Given the description of an element on the screen output the (x, y) to click on. 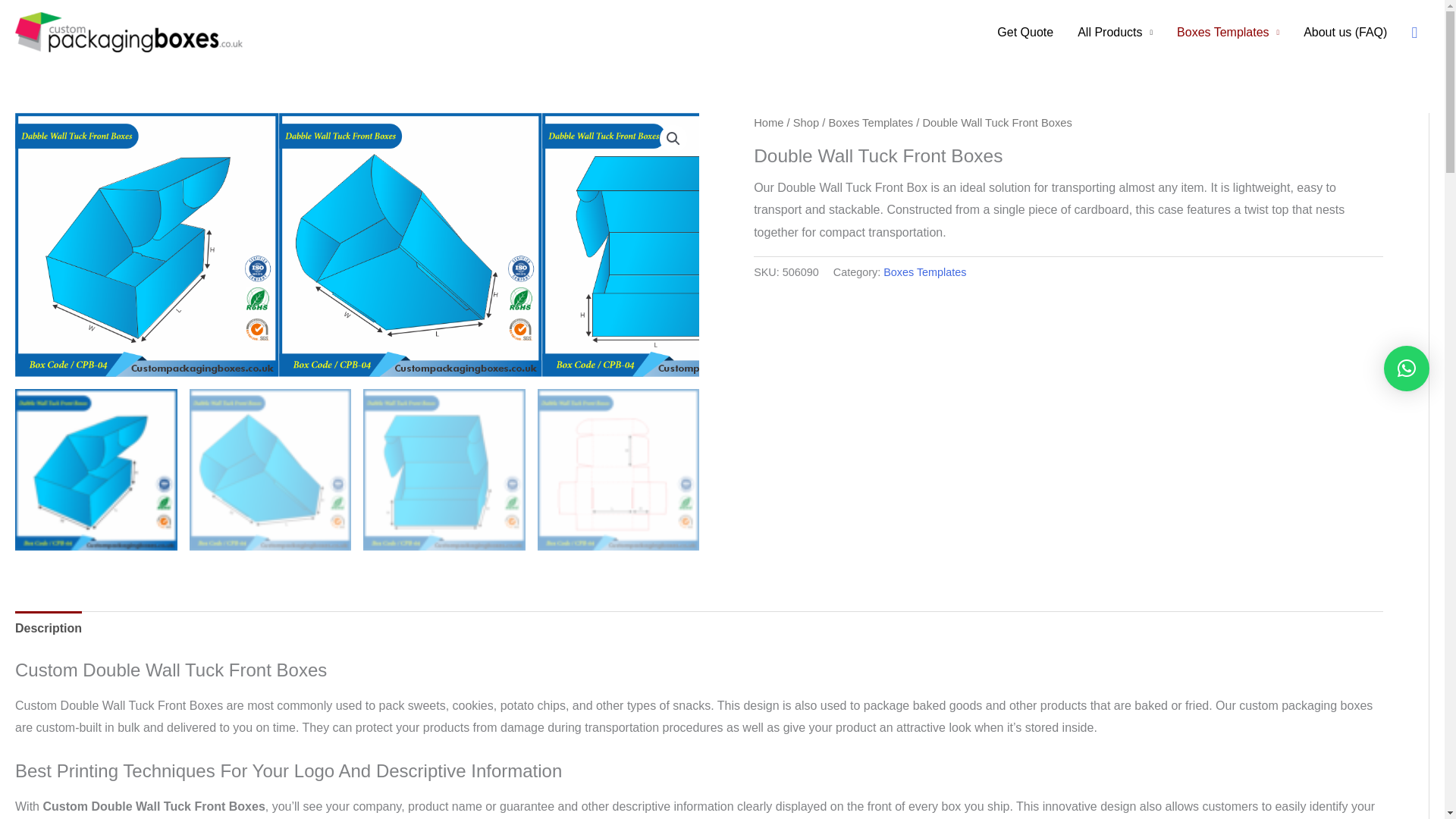
All Products (1114, 31)
Double Wall Tuck Front Boxes (146, 244)
Get Quote (1025, 31)
Duble Wall Tuck Front Boxes 03 (673, 244)
Duble Wall Tuck Front Boxes 02 (411, 244)
